Given the description of an element on the screen output the (x, y) to click on. 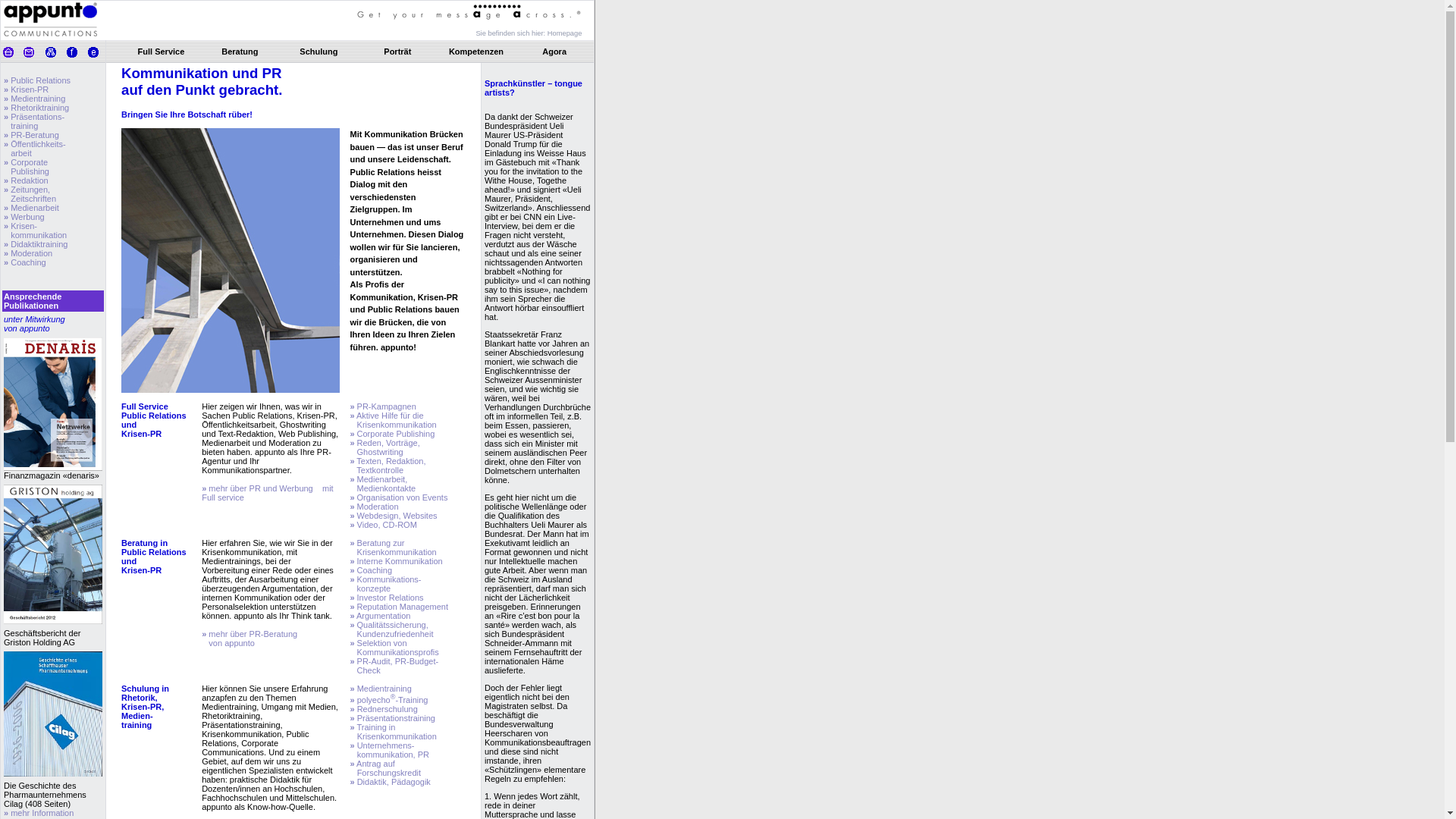
 Zeitungen,
   Zeitschriften Element type: text (29, 194)
Webdesign, Websites Element type: text (395, 515)
Antrag auf    Forschungskredit Element type: text (384, 768)
 Public Relations Element type: text (39, 79)
mehr Information Element type: text (40, 812)
Agora Element type: text (554, 51)
 Corporate
   Publishing Element type: text (26, 166)
Full Service Element type: text (161, 51)
 Training in
   Krisenkommunikation Element type: text (392, 731)
 Moderation Element type: text (30, 252)
Schulung Element type: text (318, 51)
coach outlet stores locations Element type: text (227, 67)
 Krisen-
   kommunikation Element type: text (34, 230)
coach outlet atlantic city Element type: text (322, 67)
 Coaching Element type: text (27, 261)
Beratung Element type: text (239, 51)
 Didaktiktraining Element type: text (37, 243)
black friday coach outlet Element type: text (132, 67)
   training Element type: text (20, 125)
coach allen outlet Element type: text (58, 67)
Kompetenzen Element type: text (475, 51)
Homepage Element type: text (564, 32)
 Medienarbeit Element type: text (33, 207)
 Werbung Element type: text (26, 216)
 PR-Beratung Element type: text (33, 134)
 Redaktion Element type: text (28, 180)
